Given the description of an element on the screen output the (x, y) to click on. 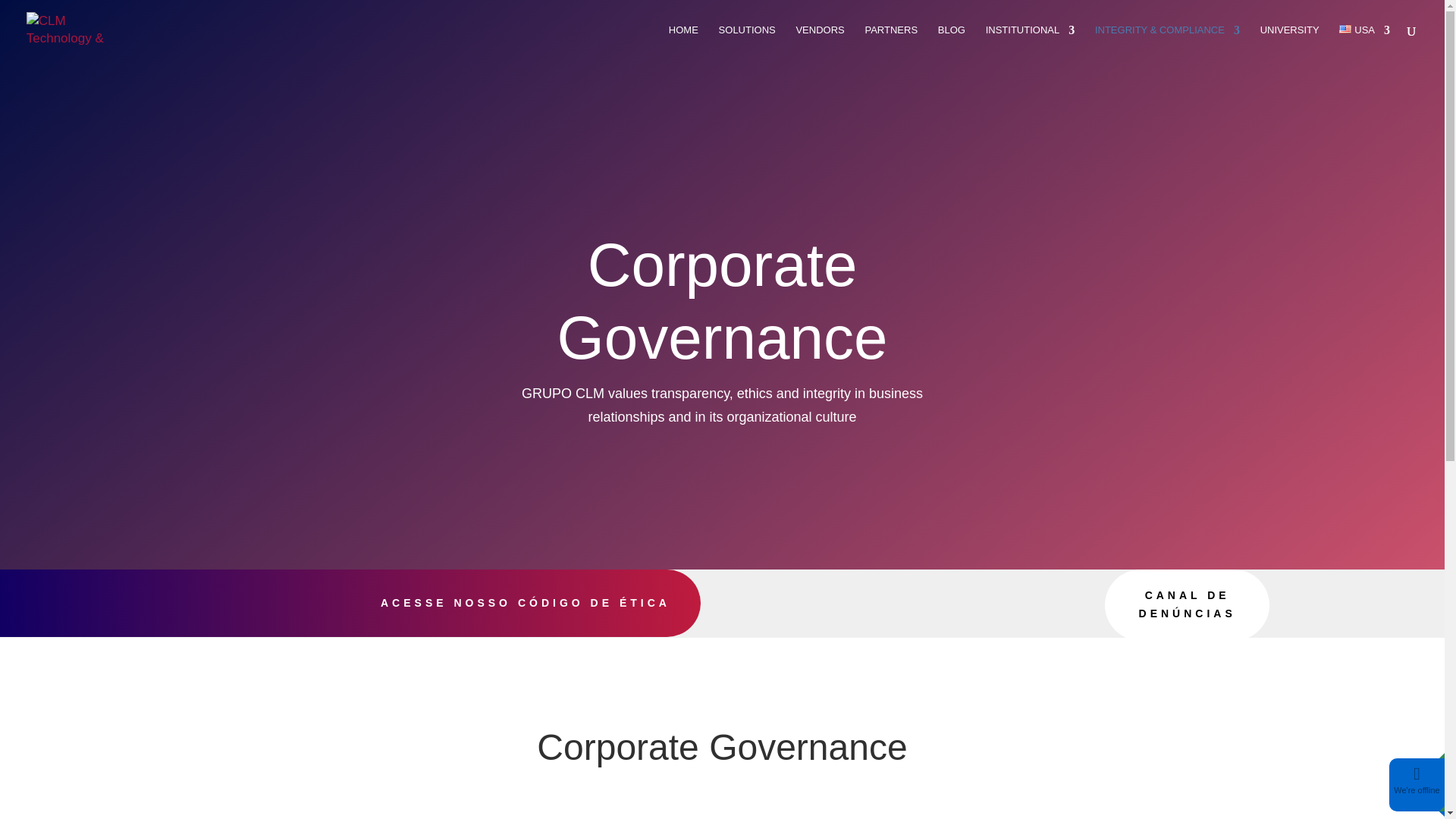
UNIVERSITY (1289, 42)
PARTNERS (890, 42)
We're offline (1417, 789)
SOLUTIONS (747, 42)
VENDORS (819, 42)
INSTITUTIONAL (1030, 42)
USA (1364, 42)
